Given the description of an element on the screen output the (x, y) to click on. 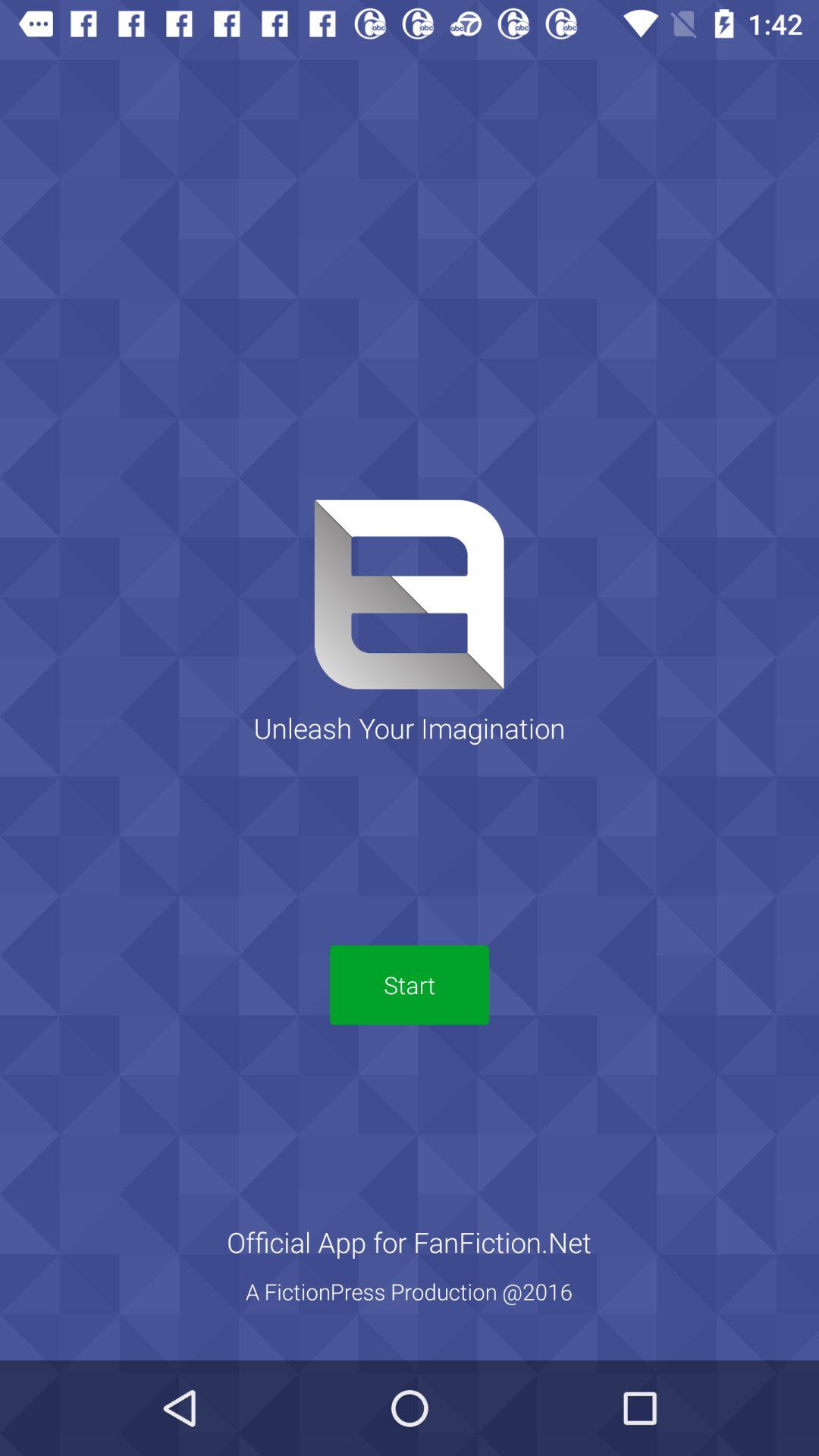
scroll until the start icon (409, 984)
